Given the description of an element on the screen output the (x, y) to click on. 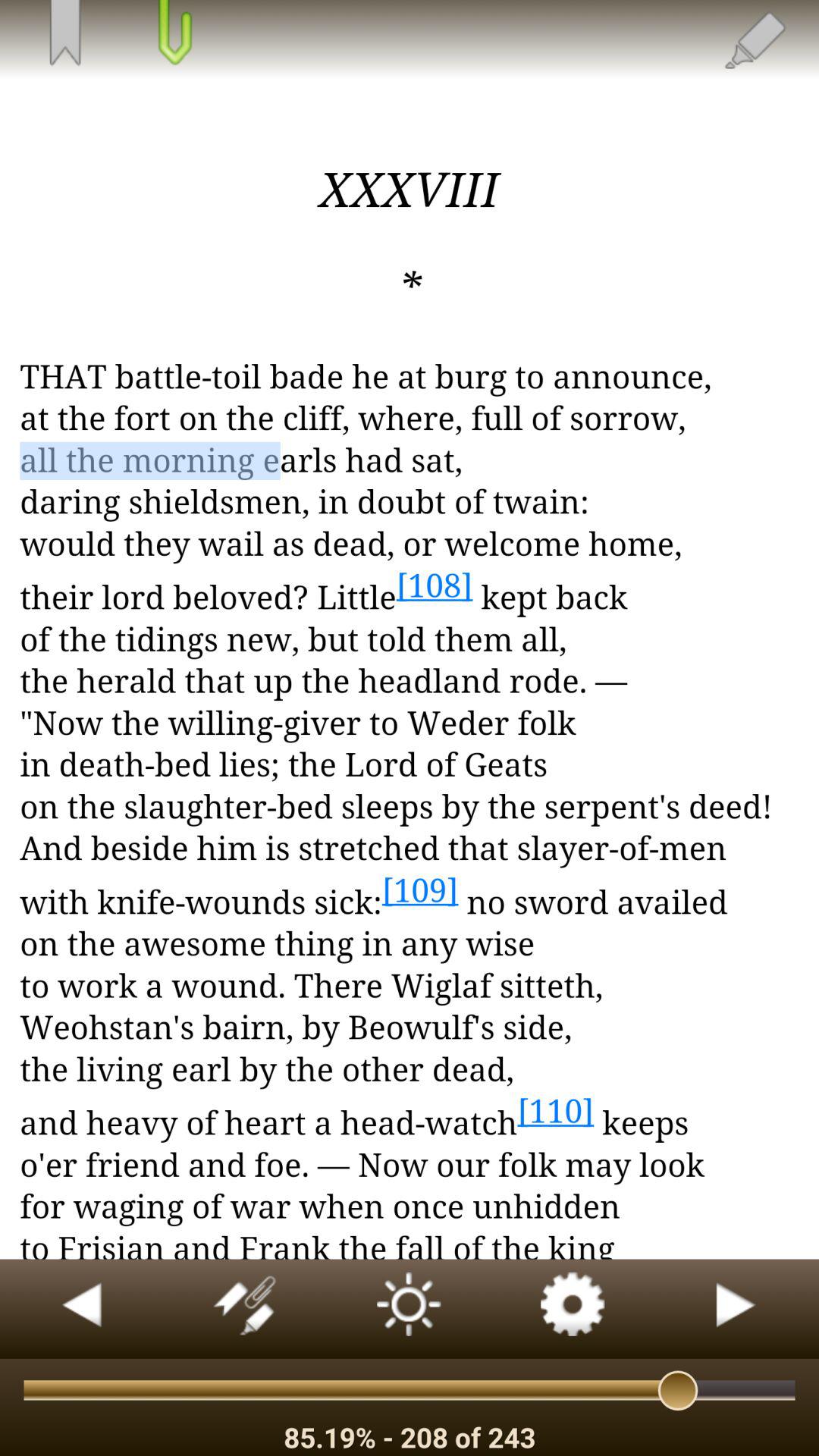
save the page (172, 34)
